Given the description of an element on the screen output the (x, y) to click on. 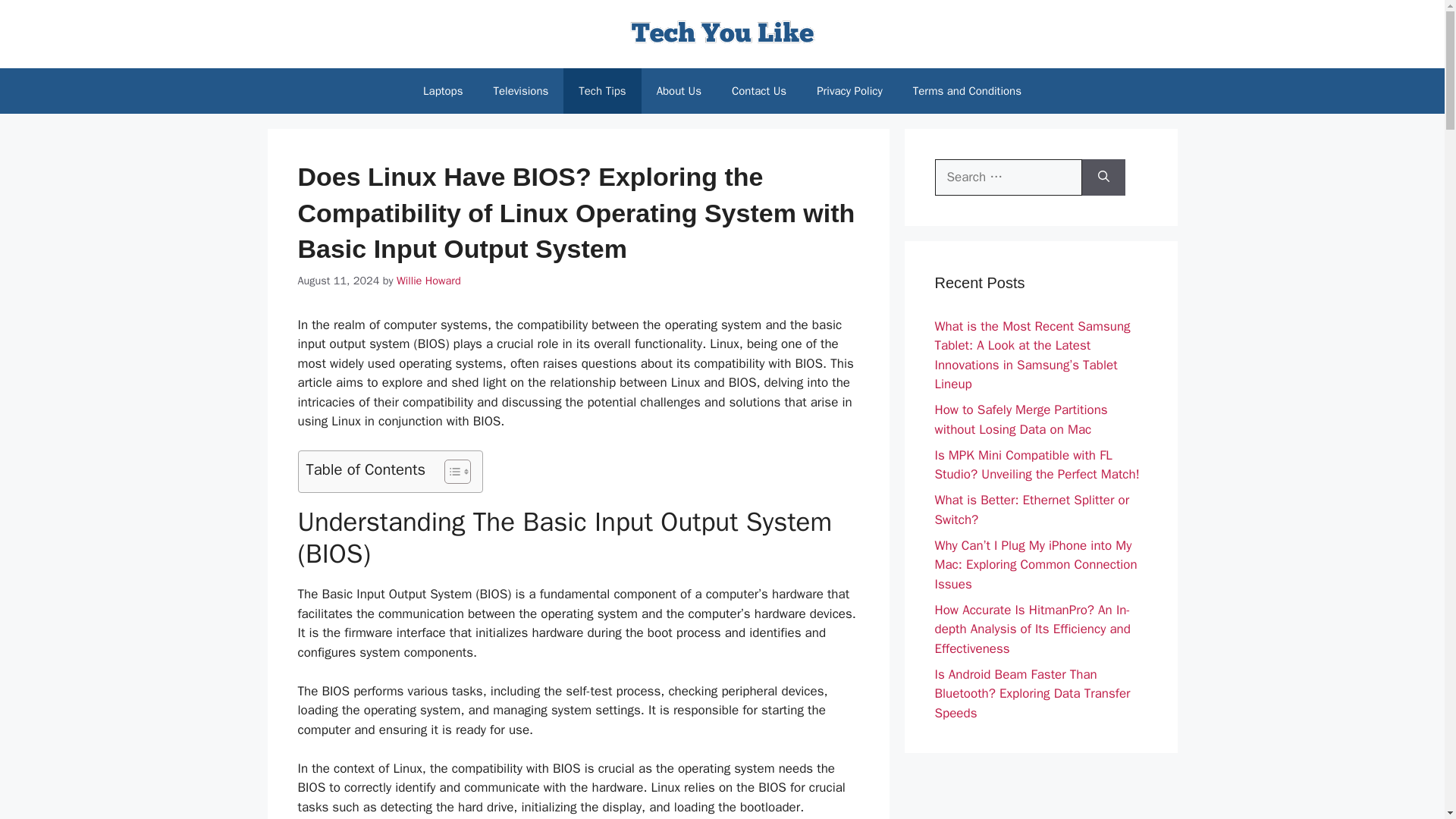
Laptops (442, 90)
Privacy Policy (850, 90)
Terms and Conditions (967, 90)
Willie Howard (428, 280)
Tech Tips (601, 90)
View all posts by Willie Howard (428, 280)
What is Better: Ethernet Splitter or Switch? (1031, 509)
